Given the description of an element on the screen output the (x, y) to click on. 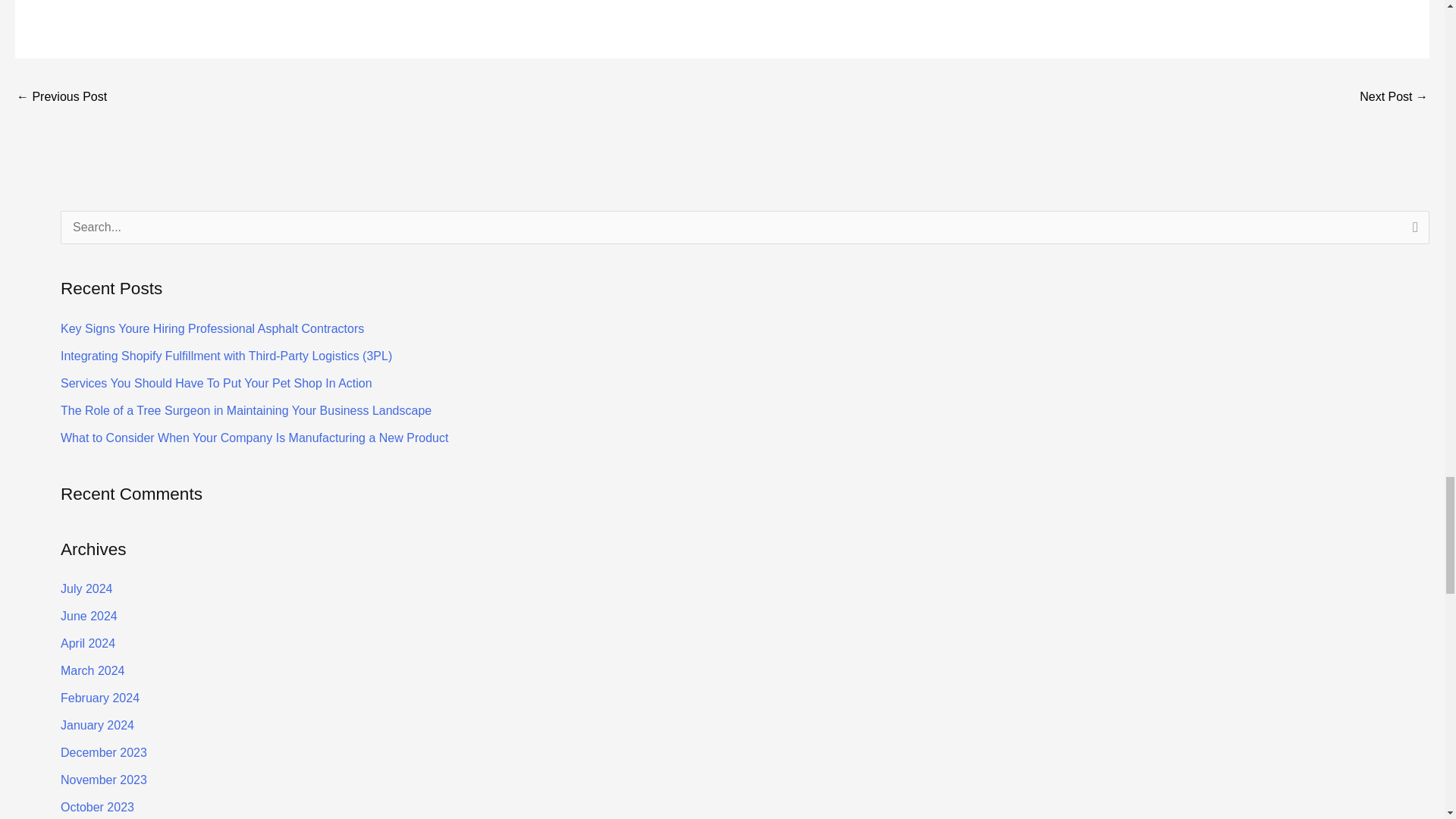
November 2023 (104, 779)
February 2024 (100, 697)
June 2024 (89, 615)
How Technology is Transforming the Ways of Product Launching (61, 98)
July 2024 (87, 588)
December 2023 (104, 752)
March 2024 (93, 670)
Services You Should Have To Put Your Pet Shop In Action (216, 382)
A Healthy Home Environment: What to Consider (1393, 98)
Key Signs Youre Hiring Professional Asphalt Contractors (212, 328)
April 2024 (88, 643)
October 2023 (97, 807)
January 2024 (97, 725)
